Given the description of an element on the screen output the (x, y) to click on. 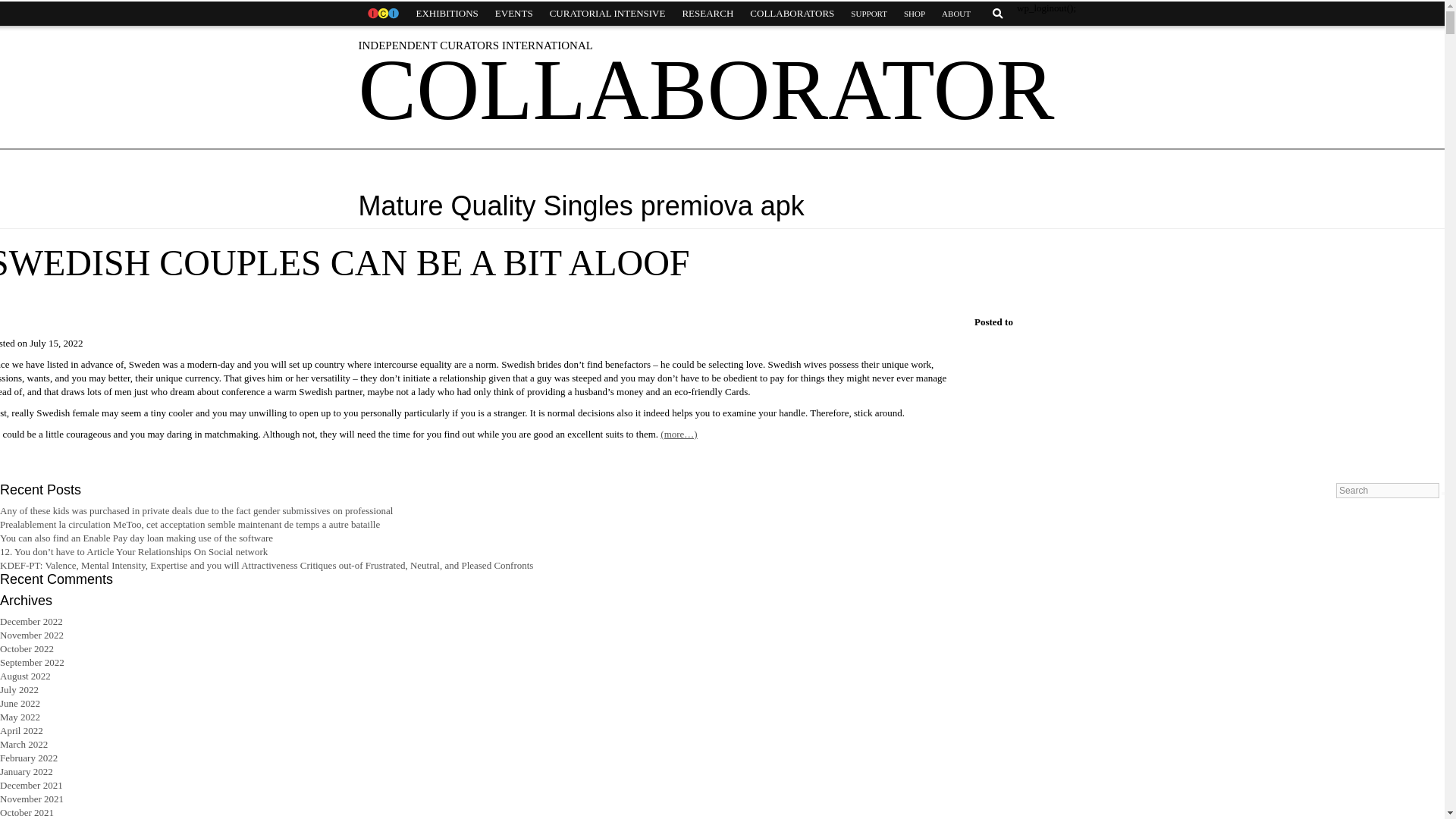
CURATORIAL INTENSIVE (607, 13)
COLLABORATORS (792, 13)
EXHIBITIONS (446, 13)
RESEARCH (706, 13)
EVENTS (513, 13)
HOME (382, 13)
